Given the description of an element on the screen output the (x, y) to click on. 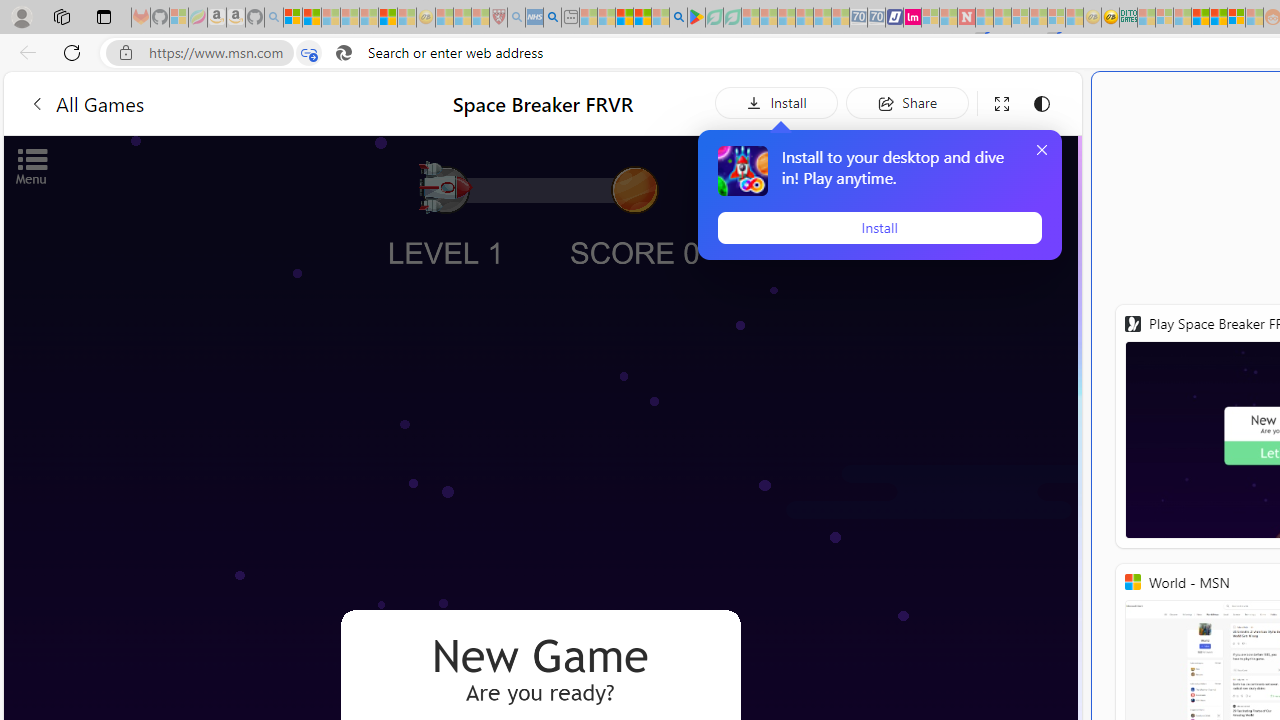
Jobs - lastminute.com Investor Portal (912, 17)
utah sues federal government - Search (552, 17)
Share (907, 102)
Install (879, 227)
Change to dark mode (1041, 103)
Pets - MSN (642, 17)
